Given the description of an element on the screen output the (x, y) to click on. 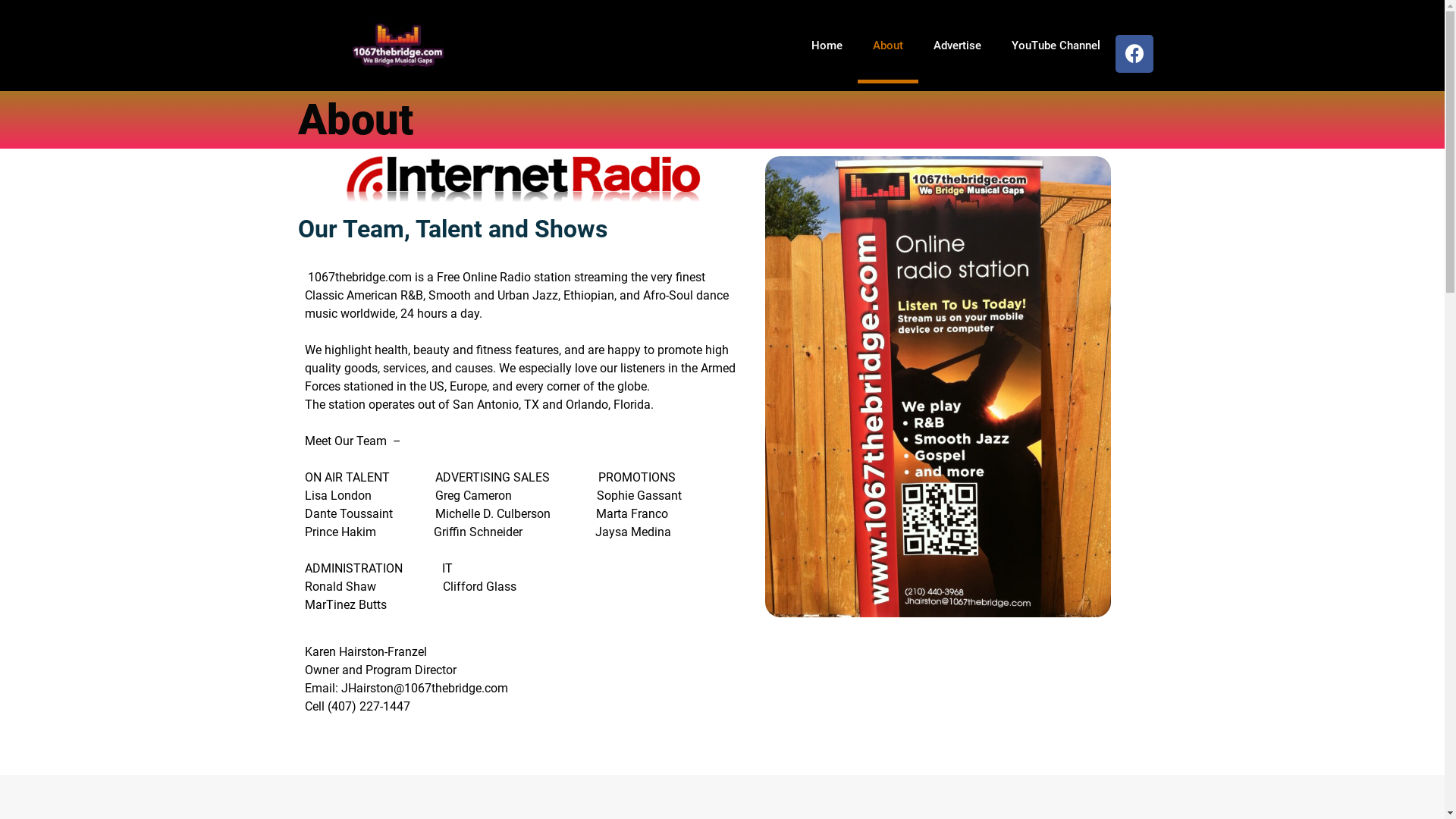
About Element type: text (886, 45)
Advertise Element type: text (956, 45)
Home Element type: text (826, 45)
YouTube Channel Element type: text (1055, 45)
